Given the description of an element on the screen output the (x, y) to click on. 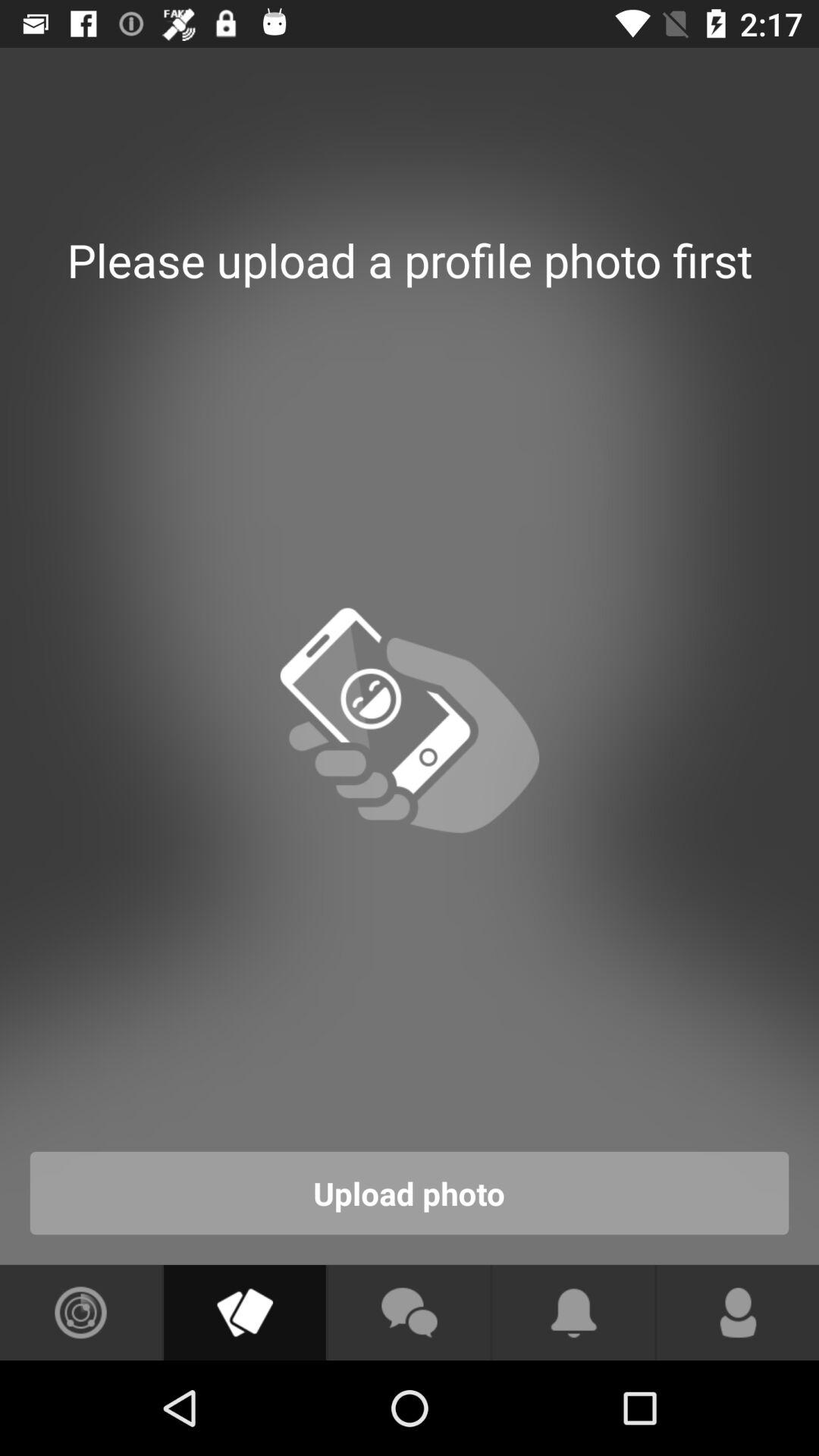
go to chat (409, 1312)
